Given the description of an element on the screen output the (x, y) to click on. 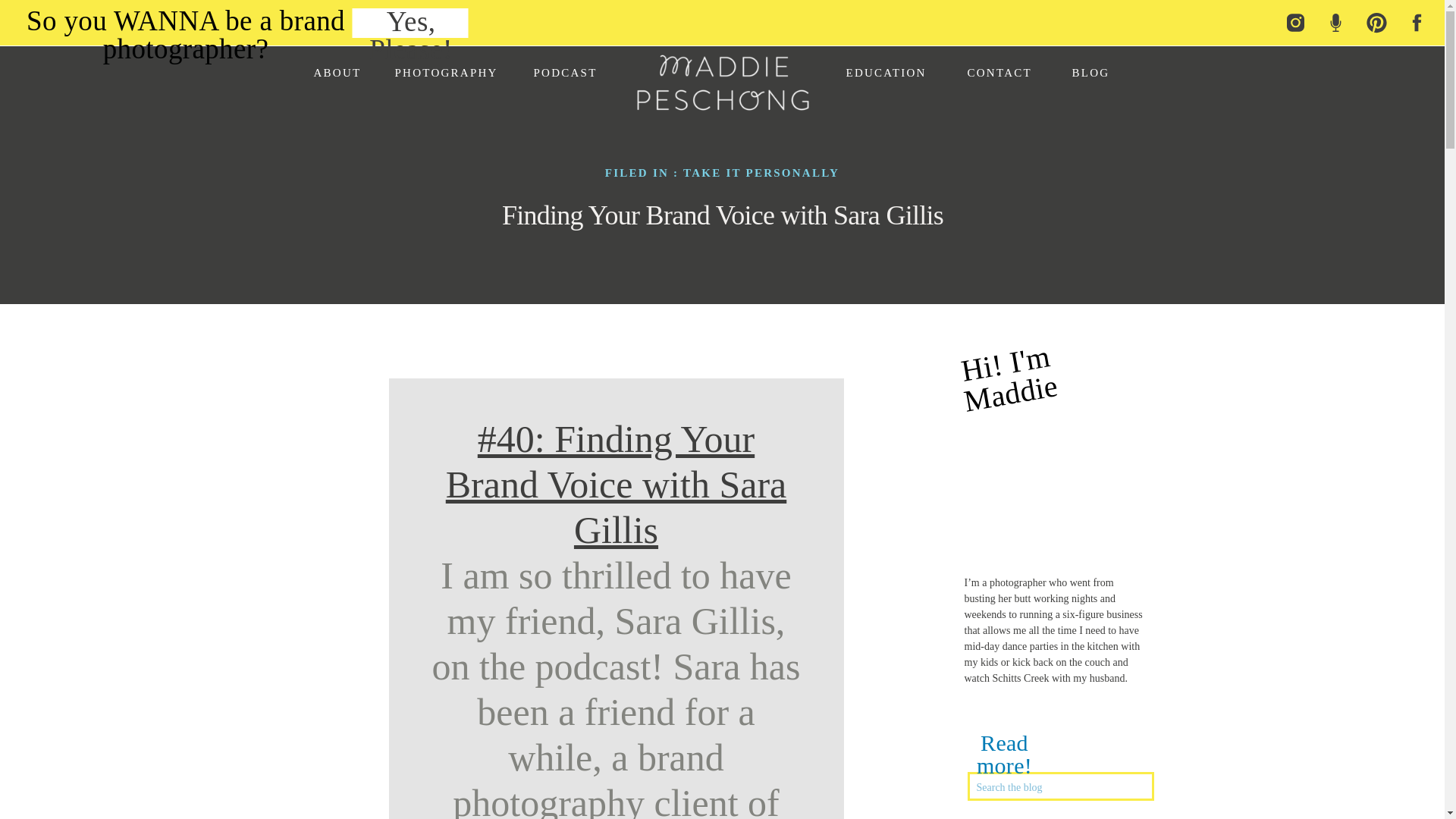
So you WANNA be a brand photographer? (185, 21)
TAKE IT PERSONALLY (761, 173)
PHOTOGRAPHY (446, 72)
EDUCATION (886, 72)
Yes, Please! (410, 25)
CONTACT (1000, 72)
Read more! (1004, 743)
BLOG (1089, 72)
PODCAST (566, 72)
ABOUT (337, 72)
